Given the description of an element on the screen output the (x, y) to click on. 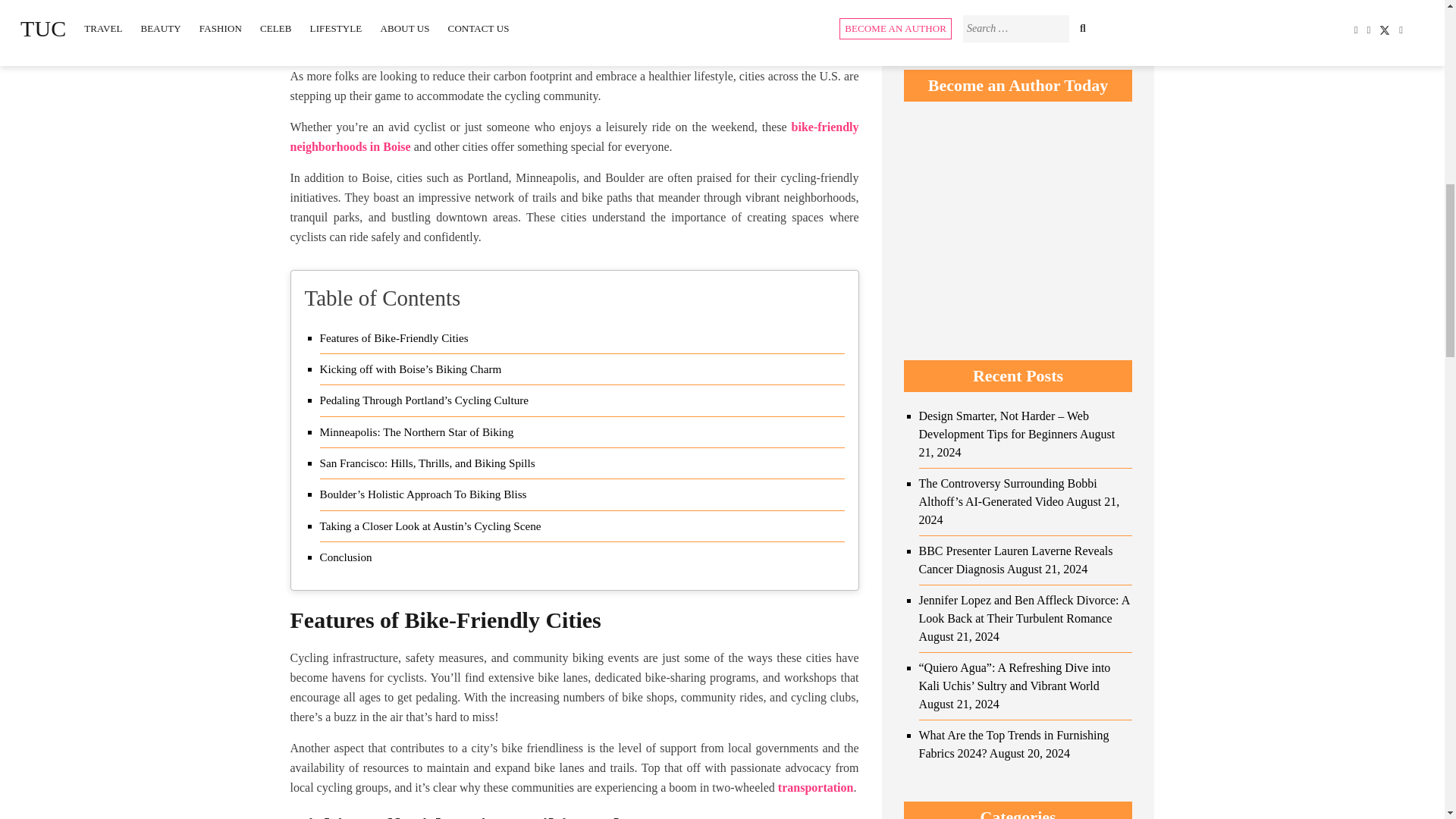
Minneapolis: The Northern Star of Biking (416, 432)
Features of Bike-Friendly Cities (394, 338)
scottnicole (325, 40)
Conclusion (346, 556)
bike-friendly neighborhoods in Boise (574, 136)
Minneapolis: The Northern Star of Biking (416, 432)
Conclusion (346, 556)
San Francisco: Hills, Thrills, and Biking Spills (427, 463)
San Francisco: Hills, Thrills, and Biking Spills (427, 463)
Features of Bike-Friendly Cities (394, 338)
